Given the description of an element on the screen output the (x, y) to click on. 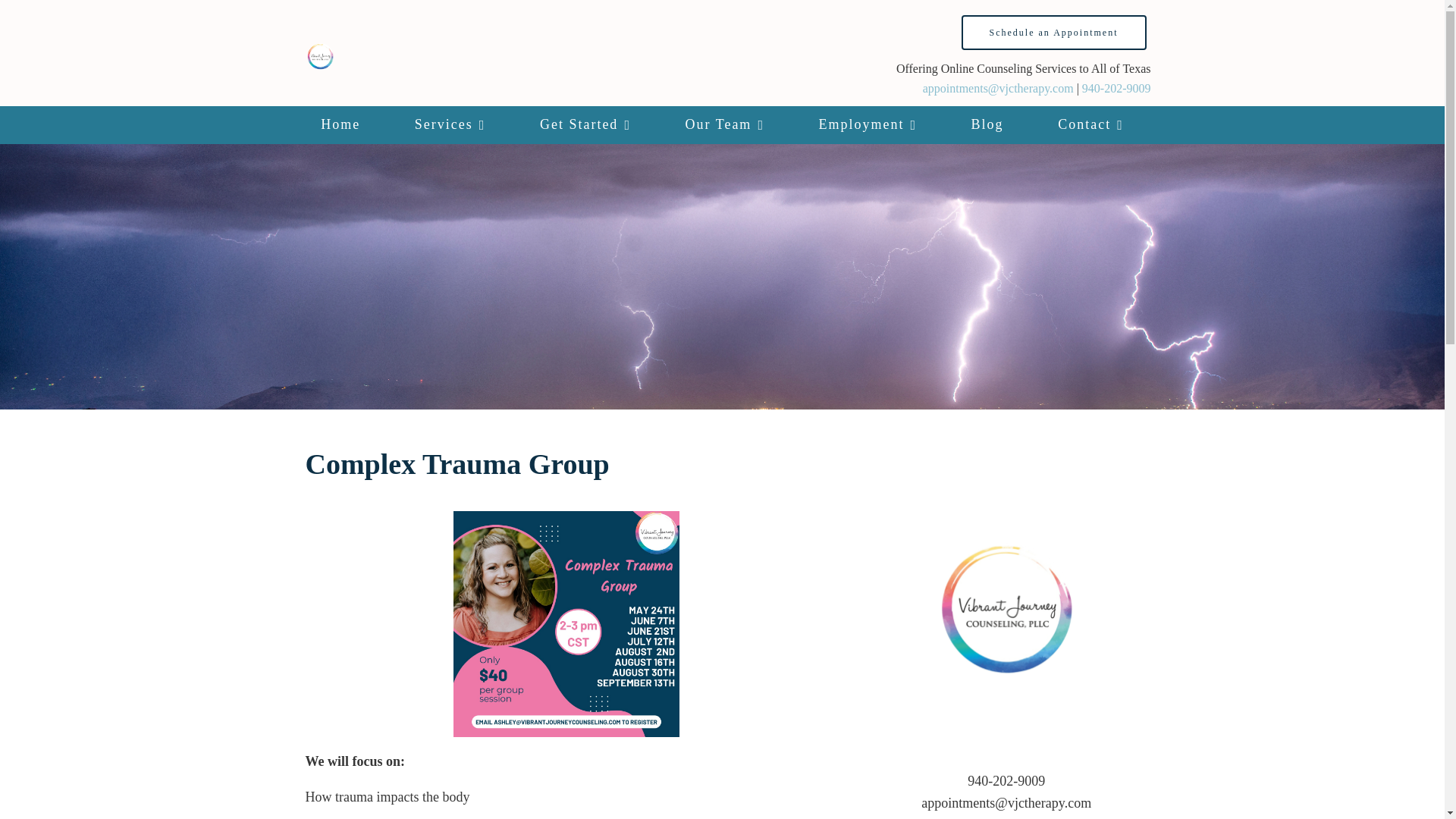
Our Team (725, 125)
Home (341, 125)
Services (449, 125)
Get Started (585, 125)
